Given the description of an element on the screen output the (x, y) to click on. 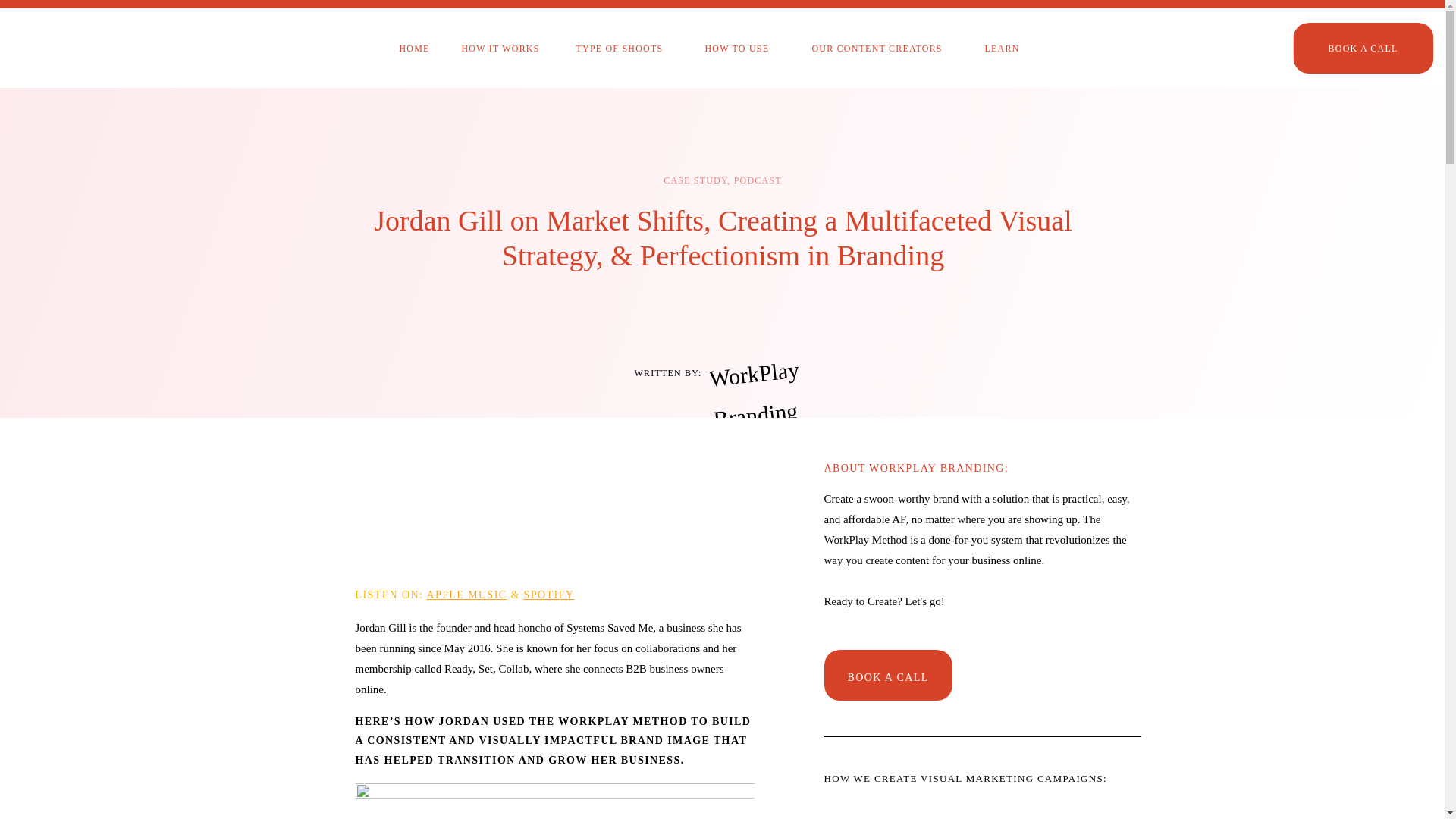
SPOTIFY (549, 594)
HOW TO USE (741, 47)
HOME (414, 47)
APPLE MUSIC (466, 594)
BOOK A CALL (1362, 47)
PODCAST (757, 180)
HOW IT WORKS (507, 47)
LEARN (1021, 47)
OUR CONTENT CREATORS (881, 47)
TYPE OF SHOOTS (622, 47)
